Given the description of an element on the screen output the (x, y) to click on. 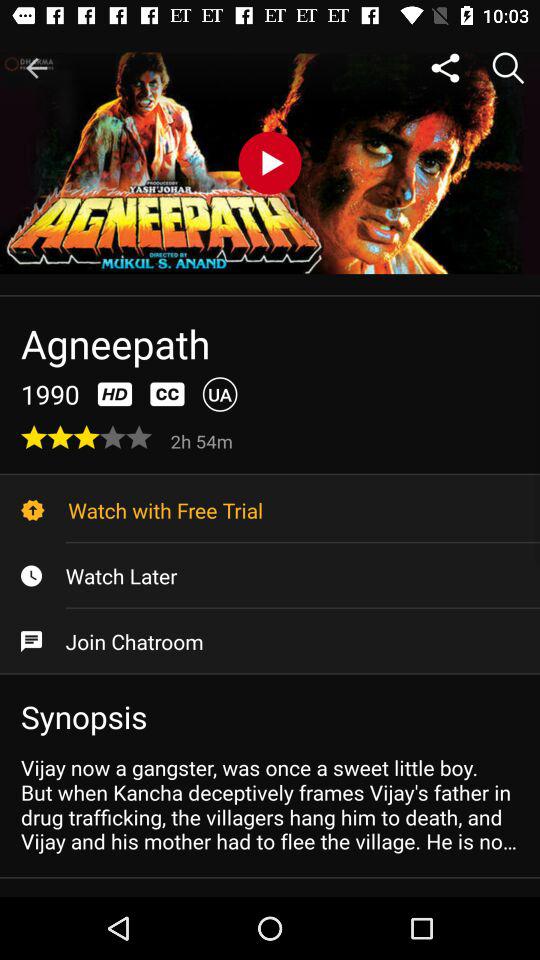
turn off watch later item (270, 575)
